Given the description of an element on the screen output the (x, y) to click on. 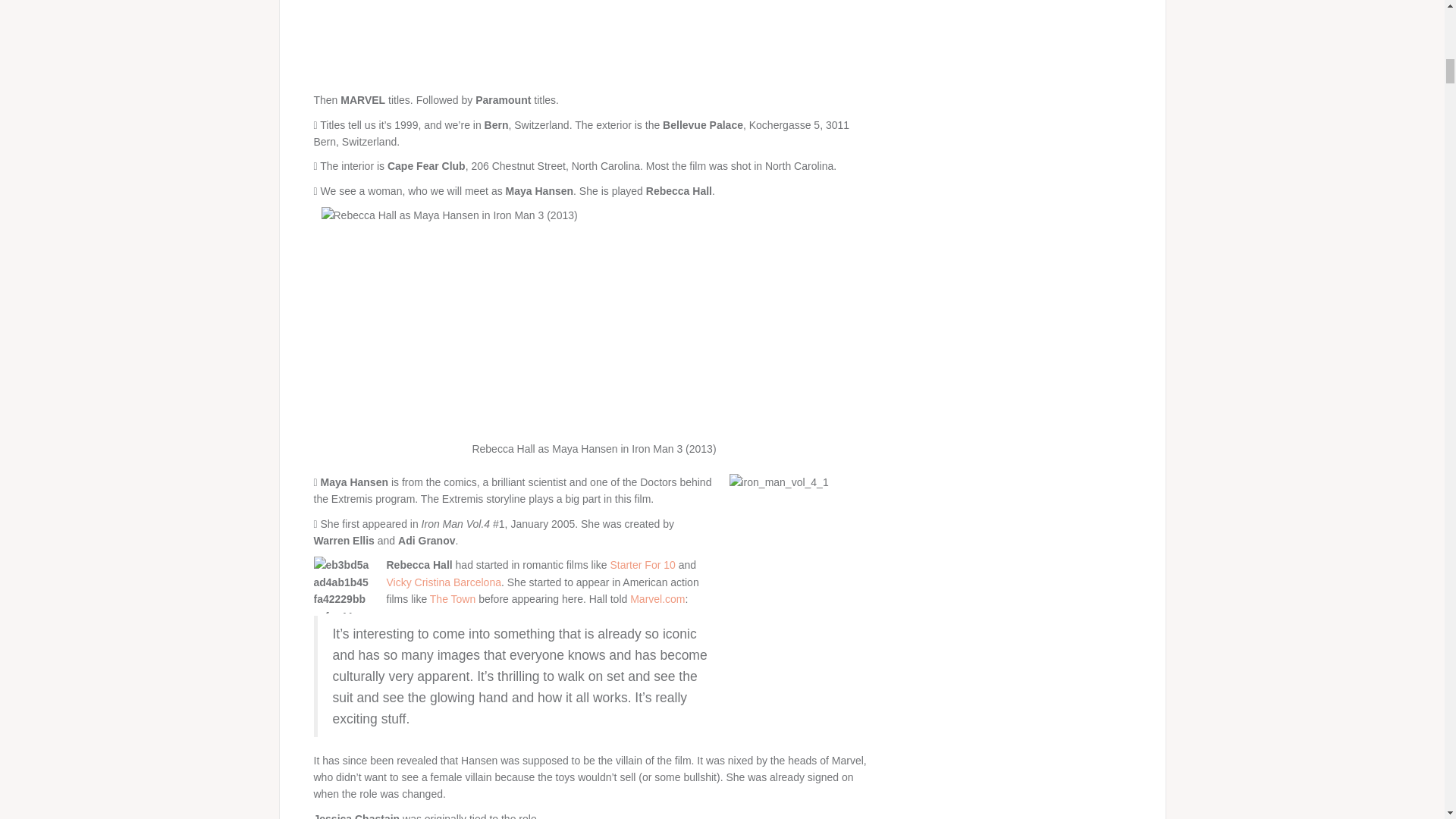
Marvel.com (657, 598)
Vicky Cristina Barcelona (443, 582)
Starter For 10 (642, 564)
The Town (452, 598)
